Given the description of an element on the screen output the (x, y) to click on. 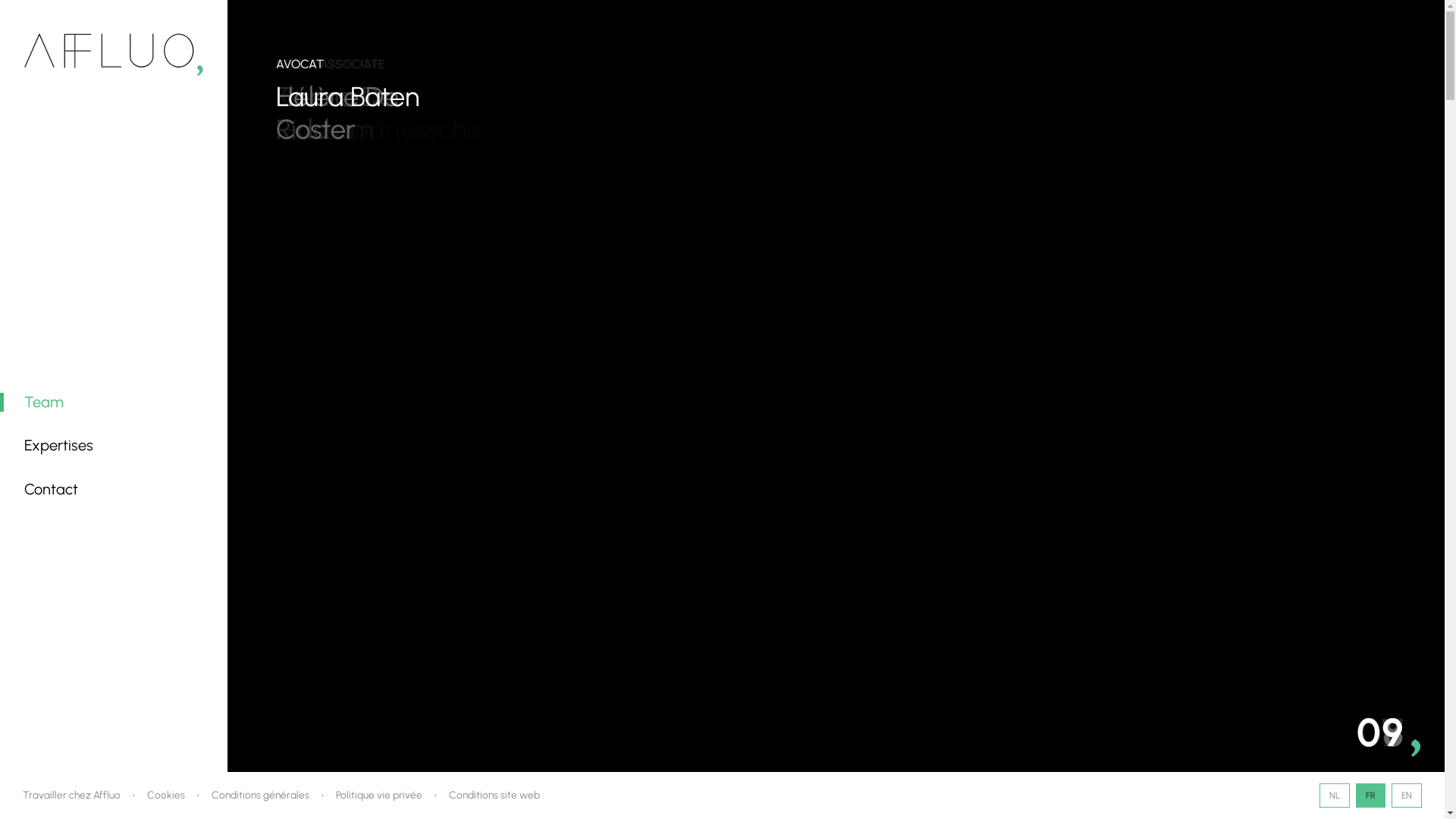
Dominique Bogman Element type: text (848, 112)
EN Element type: text (1406, 795)
Team Element type: text (43, 401)
Contact Element type: text (51, 489)
Travailler chez Affluo Element type: text (71, 794)
NL Element type: text (1334, 795)
Conditions site web Element type: text (493, 794)
Expertises Element type: text (58, 445)
FR Element type: text (1370, 795)
Cookies Element type: text (166, 794)
